Given the description of an element on the screen output the (x, y) to click on. 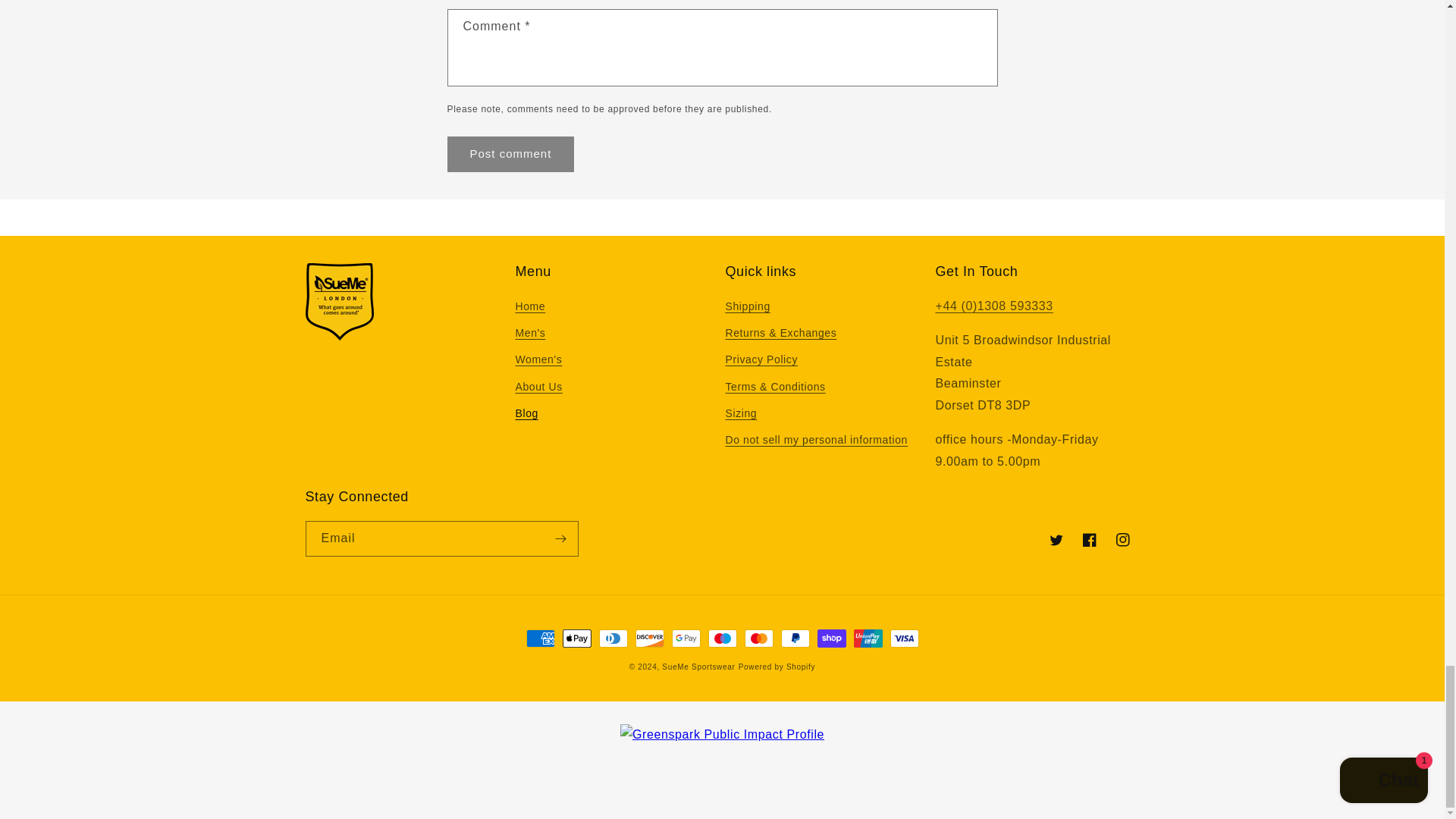
Post comment (510, 153)
